Given the description of an element on the screen output the (x, y) to click on. 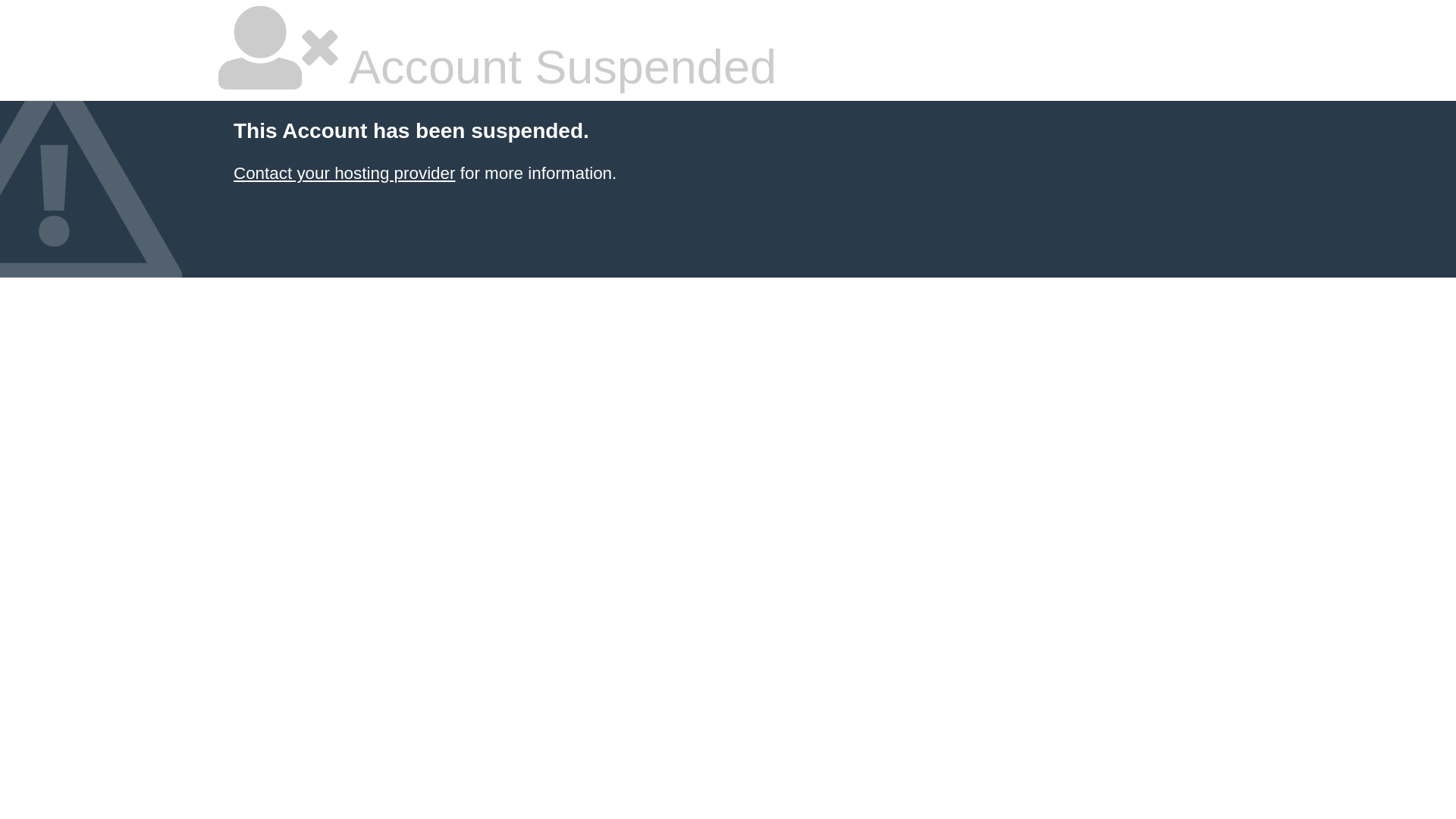
Contact your hosting provider Element type: text (344, 172)
